Given the description of an element on the screen output the (x, y) to click on. 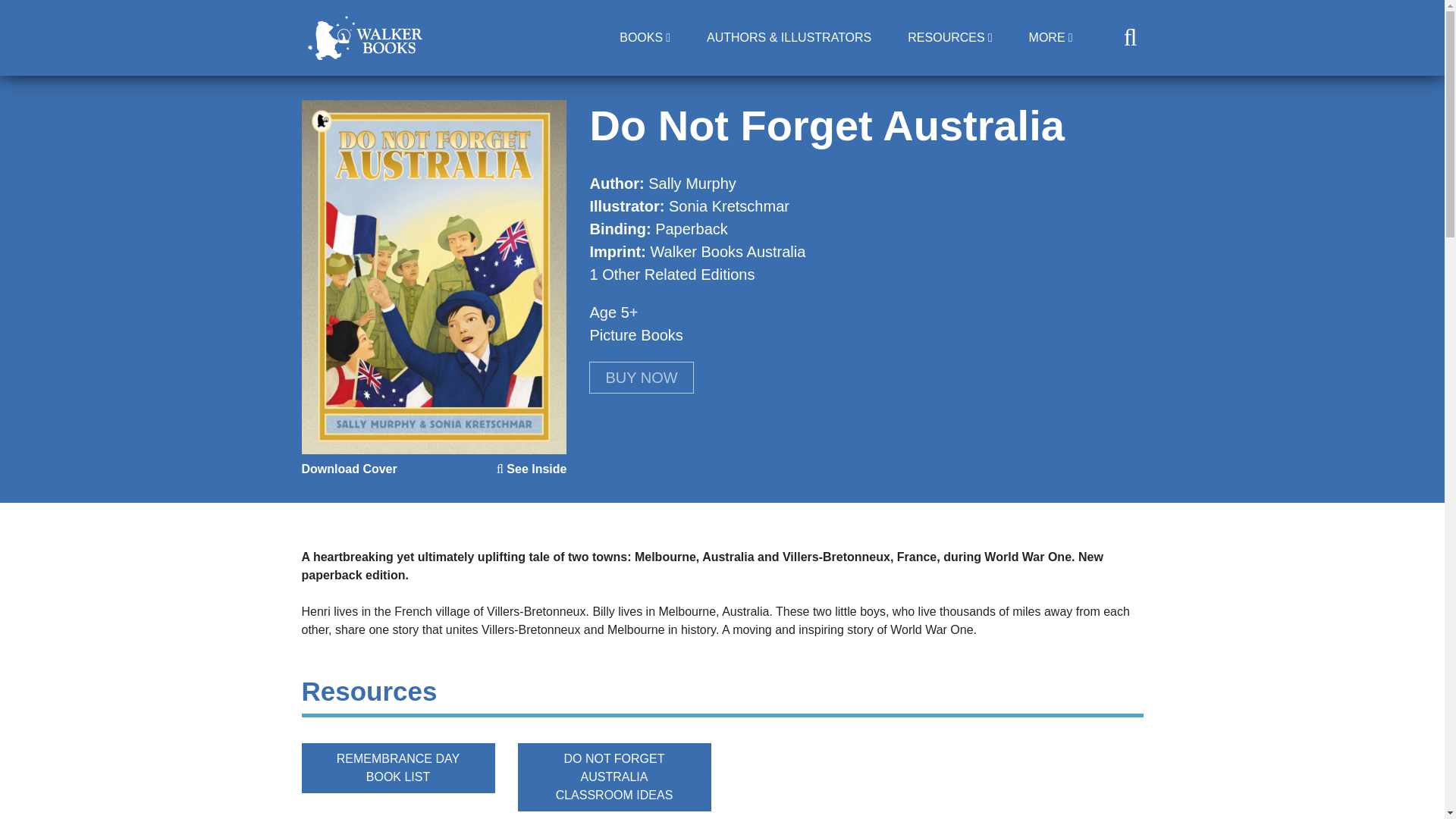
Resources (949, 37)
Download Cover (349, 469)
BUY NOW (641, 377)
See Inside (531, 469)
1 Other Related Editions (671, 274)
BOOKS (644, 37)
DO NOT FORGET AUSTRALIA CLASSROOM IDEAS (613, 776)
Sonia Kretschmar (728, 206)
Sally Murphy (691, 183)
Books (644, 37)
Search (900, 105)
RESOURCES (949, 37)
MORE (1050, 37)
Walker Books Australia (727, 251)
More (1050, 37)
